Given the description of an element on the screen output the (x, y) to click on. 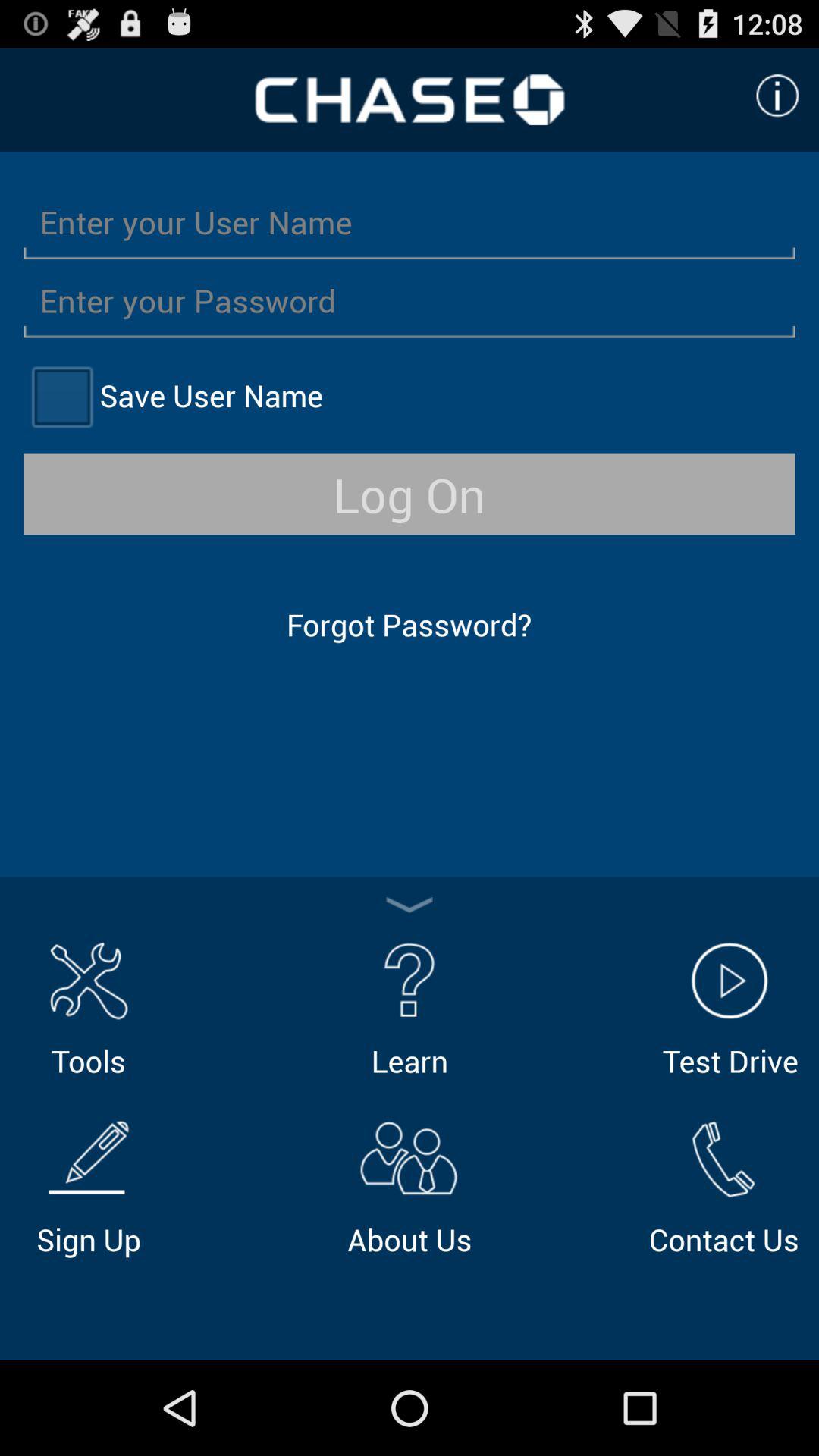
open the icon to the left of save user name item (61, 395)
